Given the description of an element on the screen output the (x, y) to click on. 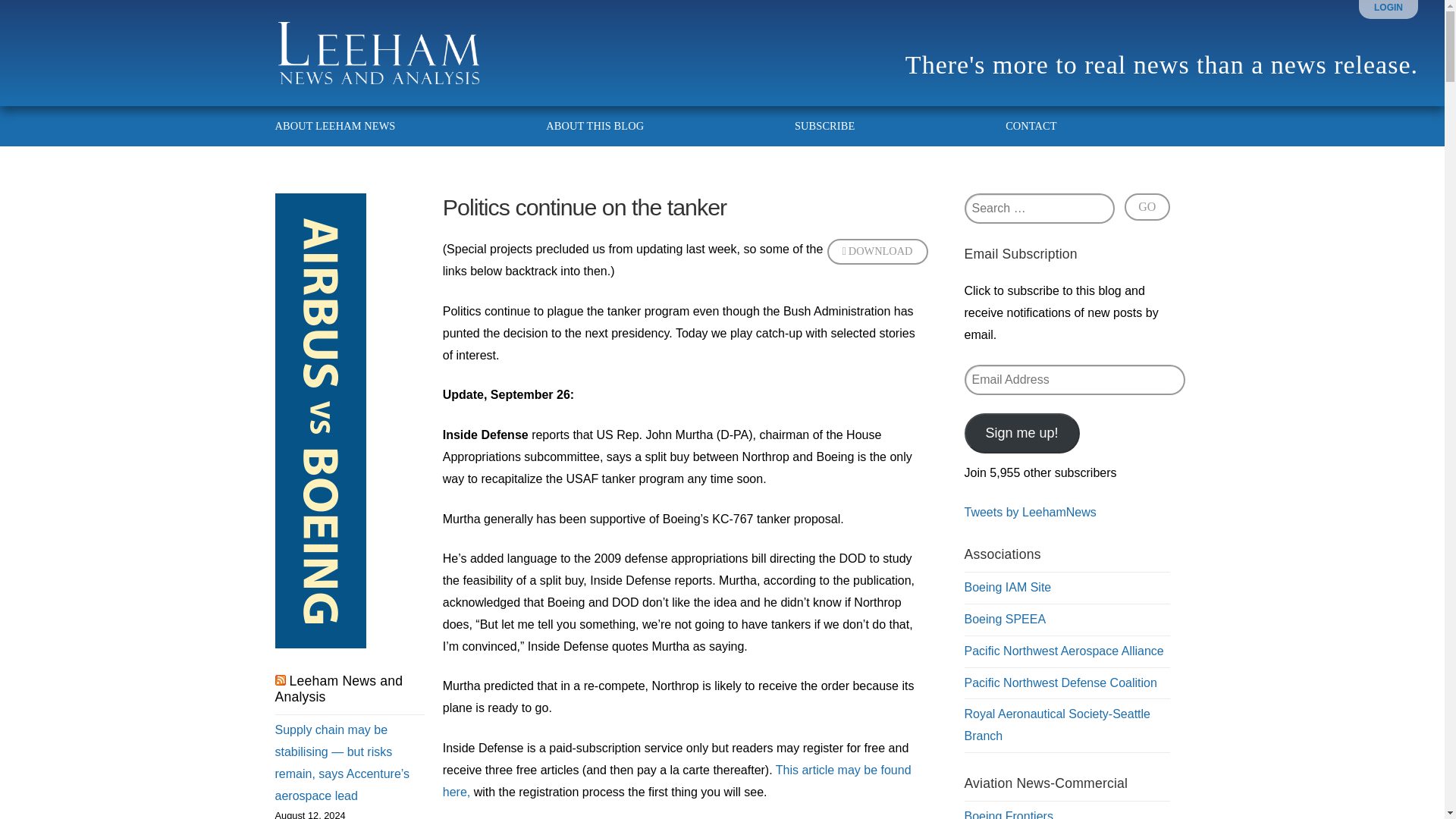
CONTACT (1022, 126)
ABOUT LEEHAM NEWS (344, 126)
Go (1147, 206)
DOWNLOAD (877, 251)
LOGIN (1388, 7)
This article may be found here, (676, 780)
Leeham News and Analysis (339, 688)
ABOUT THIS BLOG (594, 126)
SUBSCRIBE (824, 126)
